Given the description of an element on the screen output the (x, y) to click on. 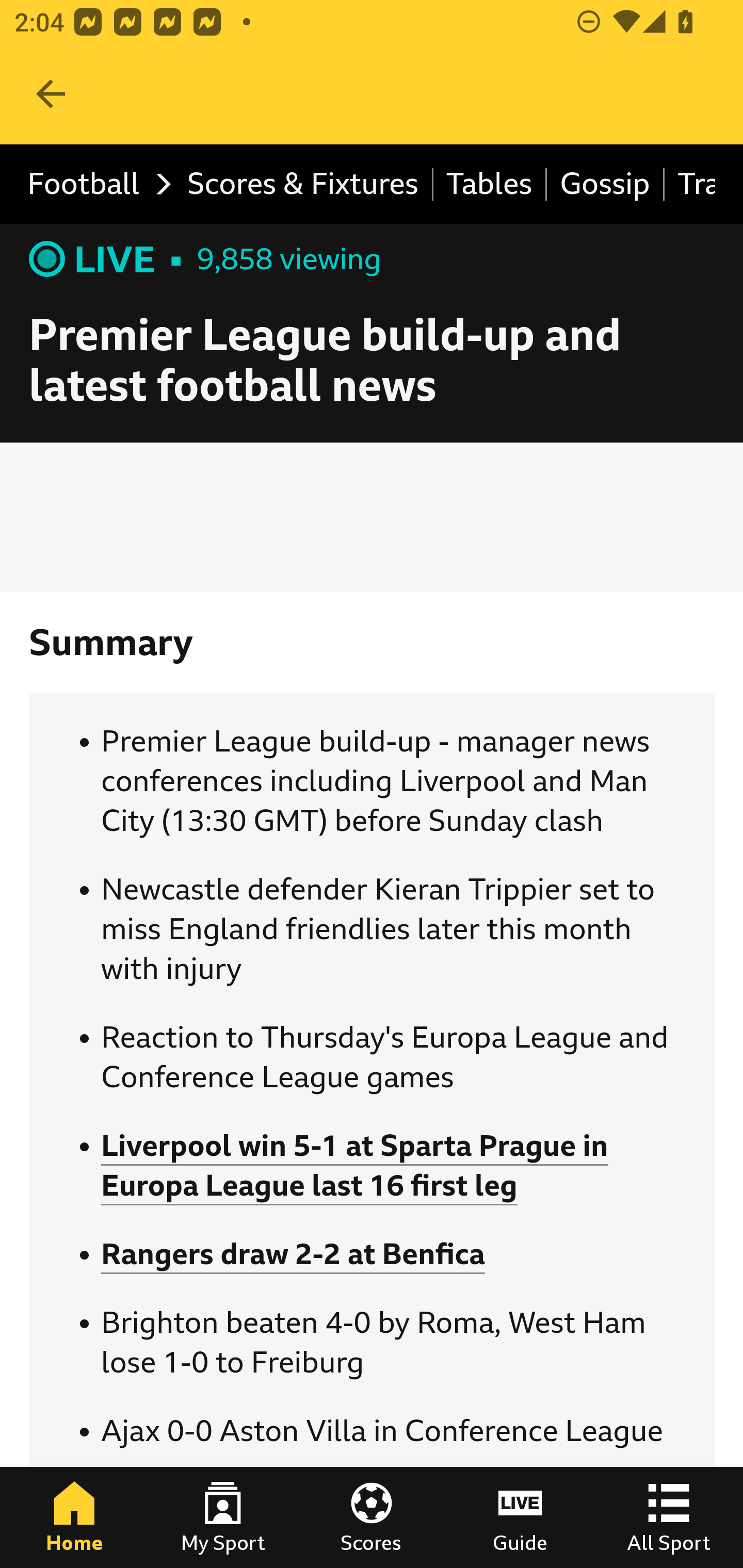
Navigate up (50, 93)
Football (94, 184)
Scores & Fixtures (303, 184)
Tables (490, 184)
Gossip (605, 184)
Rangers draw 2-2 at Benfica (293, 1254)
My Sport (222, 1517)
Scores (371, 1517)
Guide (519, 1517)
All Sport (668, 1517)
